Given the description of an element on the screen output the (x, y) to click on. 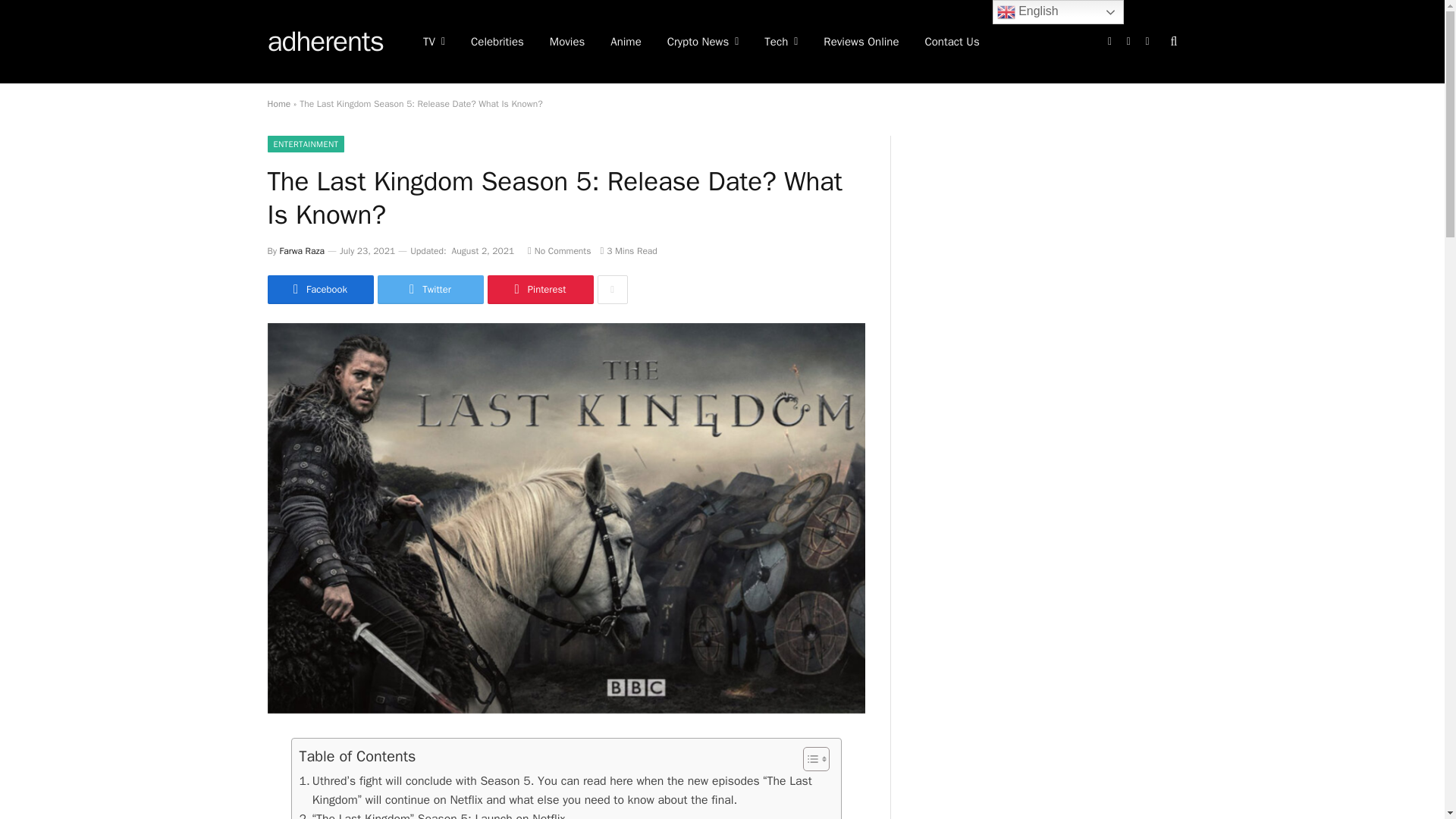
Reviews Online (860, 41)
Contact Us (951, 41)
Celebrities (497, 41)
Posts by Farwa Raza (301, 250)
English (1058, 12)
Crypto News (702, 41)
adherents (325, 41)
Share on Facebook (319, 289)
adherents (325, 41)
